Given the description of an element on the screen output the (x, y) to click on. 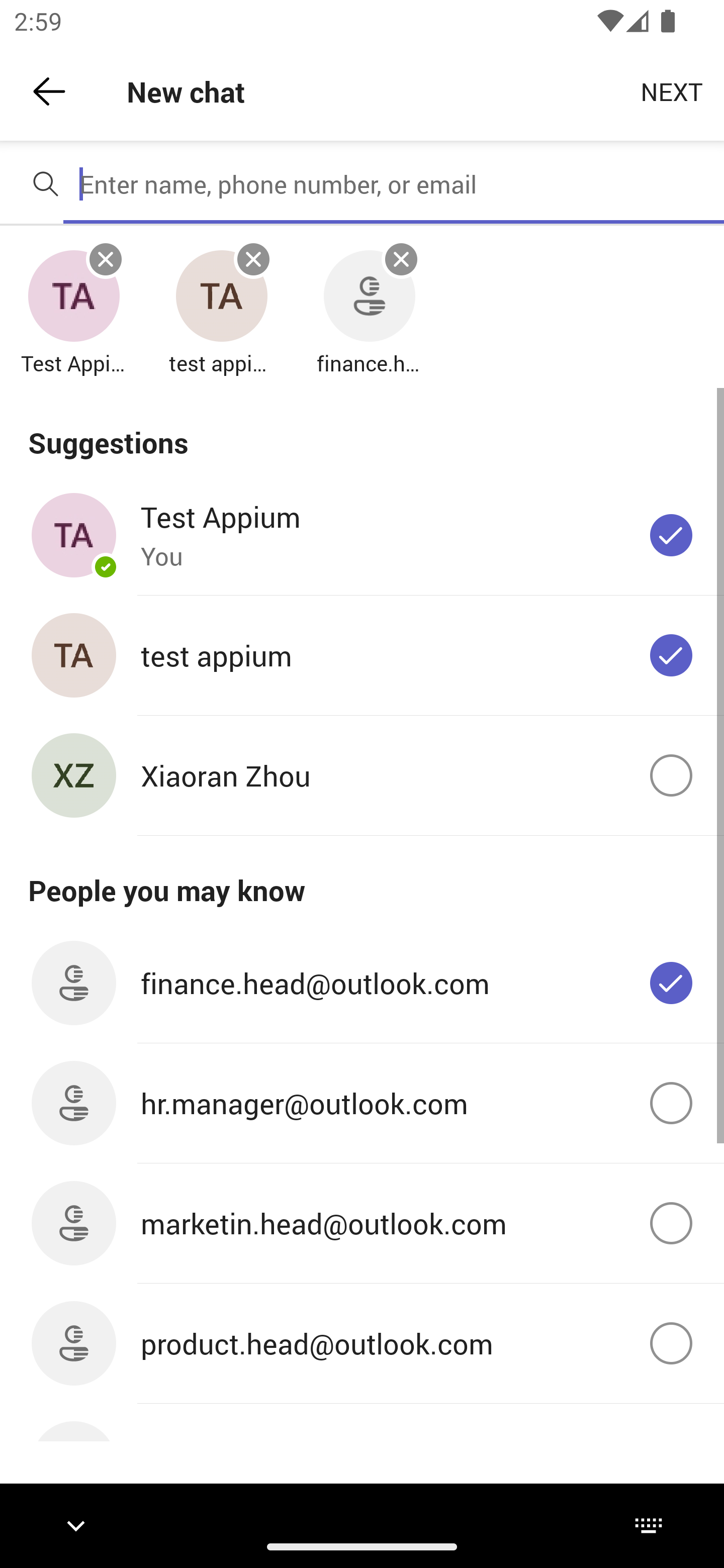
Back (49, 91)
NEXT (671, 90)
Enter name, phone number, or email (393, 184)
Remove (105, 259)
Remove (252, 259)
Remove (400, 259)
Test Appium profile picture (73, 295)
test appium profile picture (221, 295)
finance.head@outlook.com profile picture (369, 295)
Suggestions section header Suggestions (362, 431)
